Given the description of an element on the screen output the (x, y) to click on. 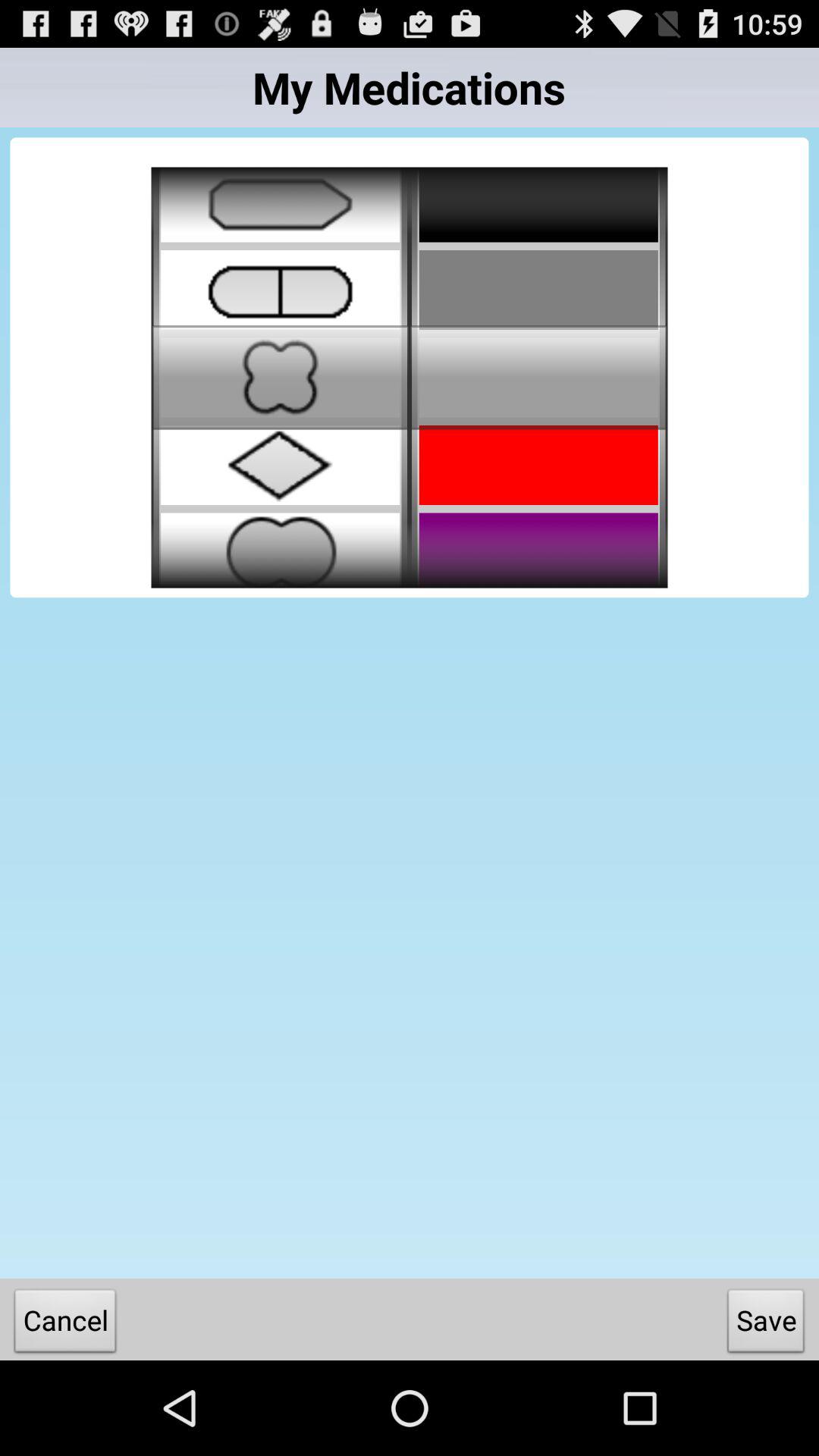
turn on the icon next to the save item (65, 1324)
